Given the description of an element on the screen output the (x, y) to click on. 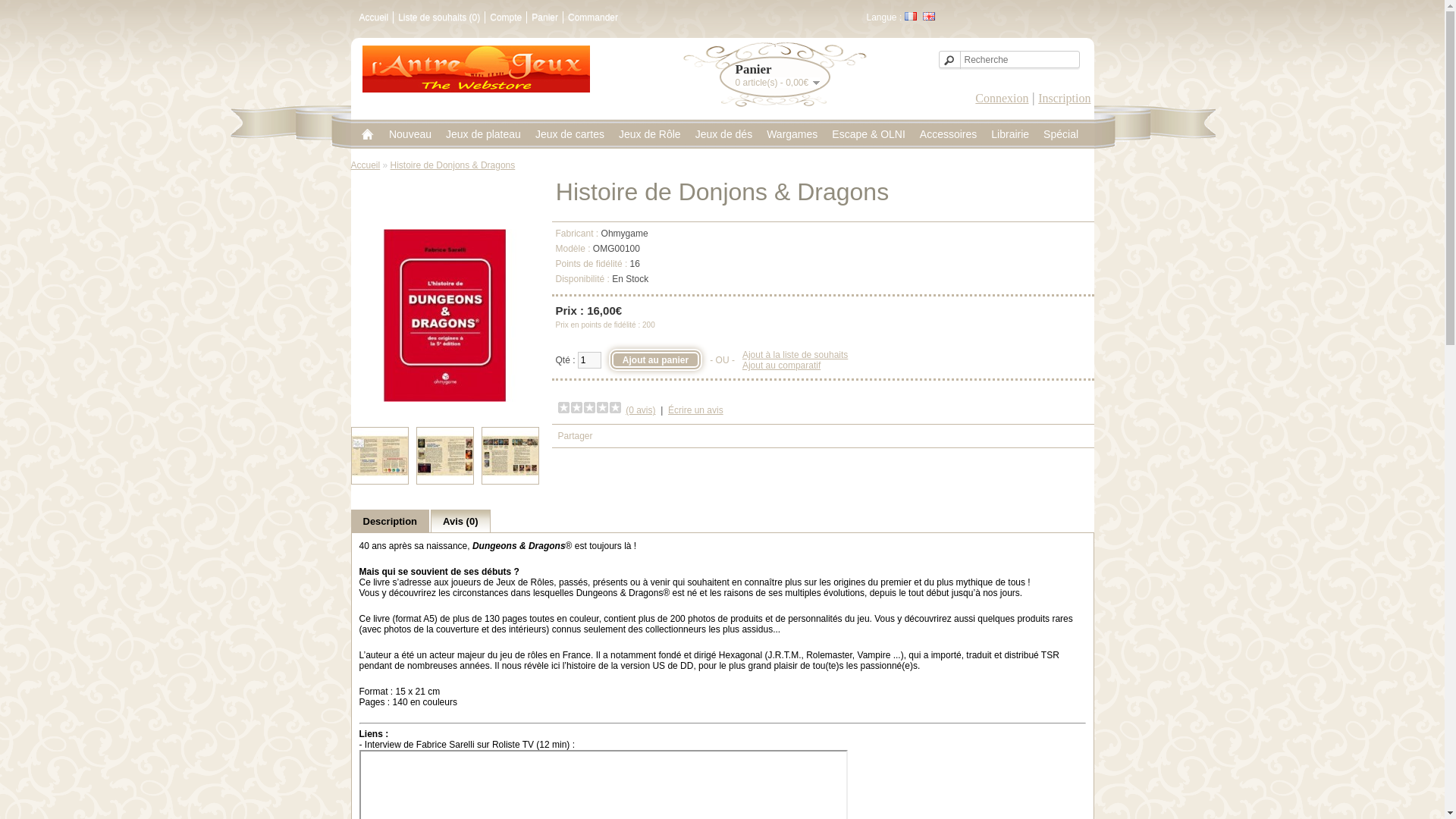
Inscription Element type: text (1064, 97)
Histoire de Donjons & Dragons Element type: hover (444, 455)
Avis (0) Element type: text (459, 520)
Accueil Element type: text (364, 165)
Histoire de Donjons & Dragons Element type: hover (509, 456)
Jeux de cartes Element type: text (569, 133)
Histoire de Donjons & Dragons Element type: text (452, 165)
Escape & OLNI Element type: text (868, 133)
Histoire de Donjons & Dragons Element type: hover (378, 456)
Histoire de Donjons & Dragons Element type: hover (443, 315)
Histoire de Donjons & Dragons Element type: hover (509, 455)
Commander Element type: text (592, 17)
Jeux de plateau Element type: text (483, 133)
Partager Element type: text (575, 435)
Accessoires Element type: text (948, 133)
Ohmygame Element type: text (624, 233)
Nouveau Element type: text (409, 133)
Liste de souhaits (0) Element type: text (439, 17)
Librairie Element type: text (1009, 133)
Compte Element type: text (505, 17)
Wargames Element type: text (791, 133)
Connexion Element type: text (1001, 97)
Histoire de Donjons & Dragons Element type: hover (443, 398)
Histoire de Donjons & Dragons Element type: hover (378, 455)
Histoire de Donjons & Dragons Element type: hover (444, 456)
l'Antre Jeux - webstore Element type: hover (475, 68)
English Element type: hover (928, 16)
(0 avis) Element type: text (640, 409)
Panier Element type: text (544, 17)
Accueil Element type: text (374, 17)
Ajout au comparatif Element type: text (781, 365)
Description Element type: text (389, 521)
